Given the description of an element on the screen output the (x, y) to click on. 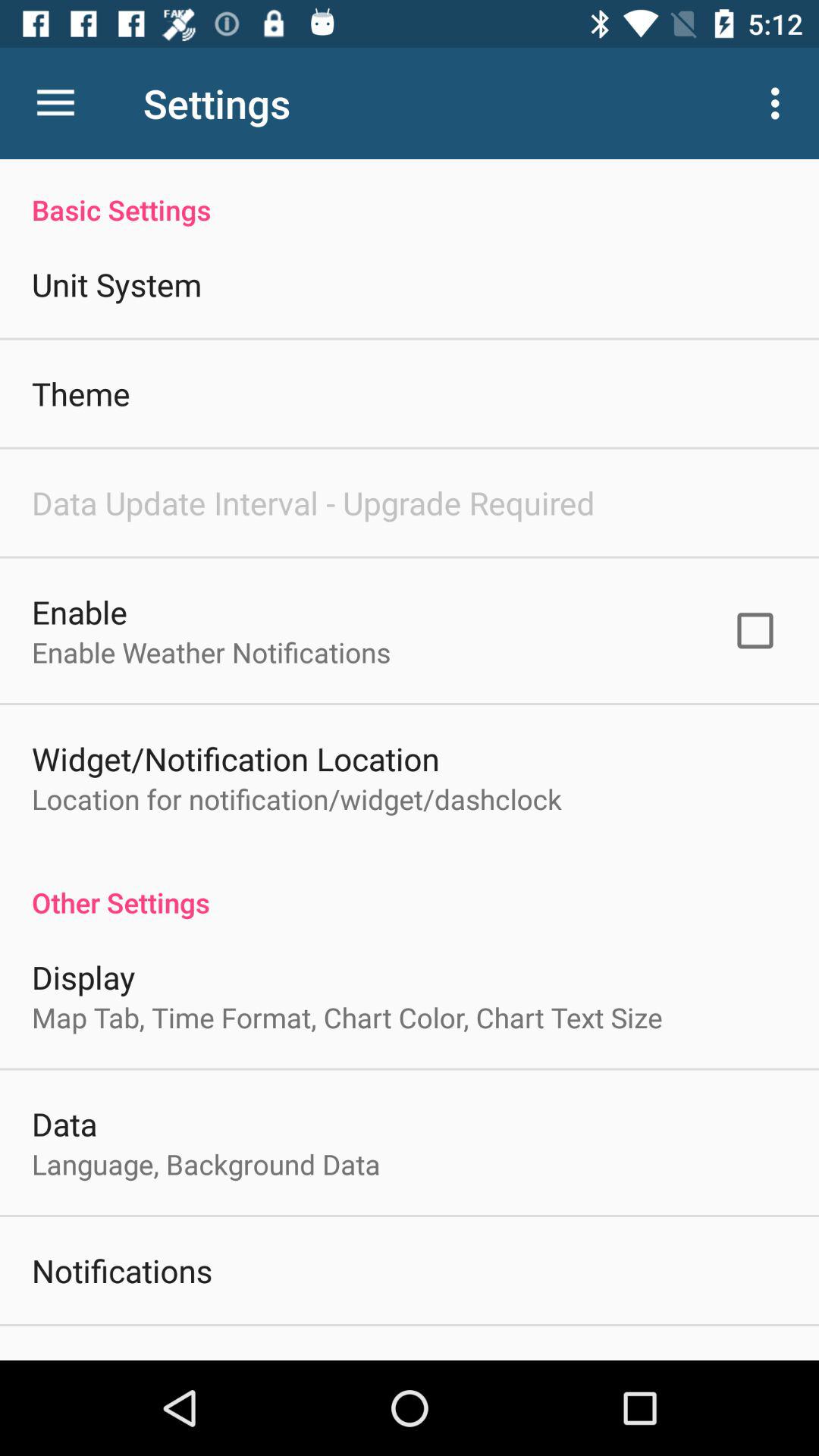
flip to the unit system item (116, 283)
